Given the description of an element on the screen output the (x, y) to click on. 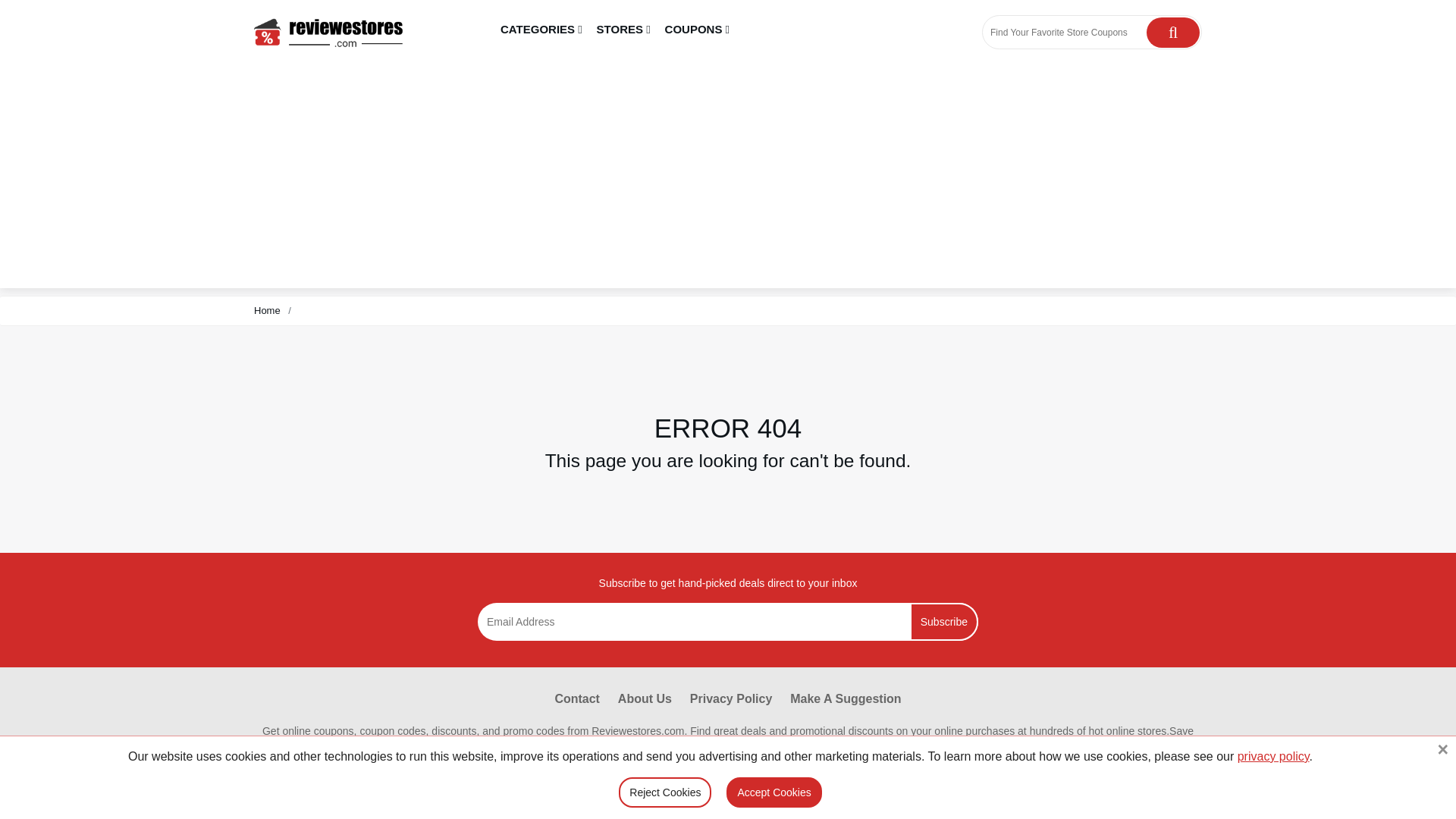
CATEGORIES (541, 29)
STORES (622, 29)
COUPONS (697, 29)
